Given the description of an element on the screen output the (x, y) to click on. 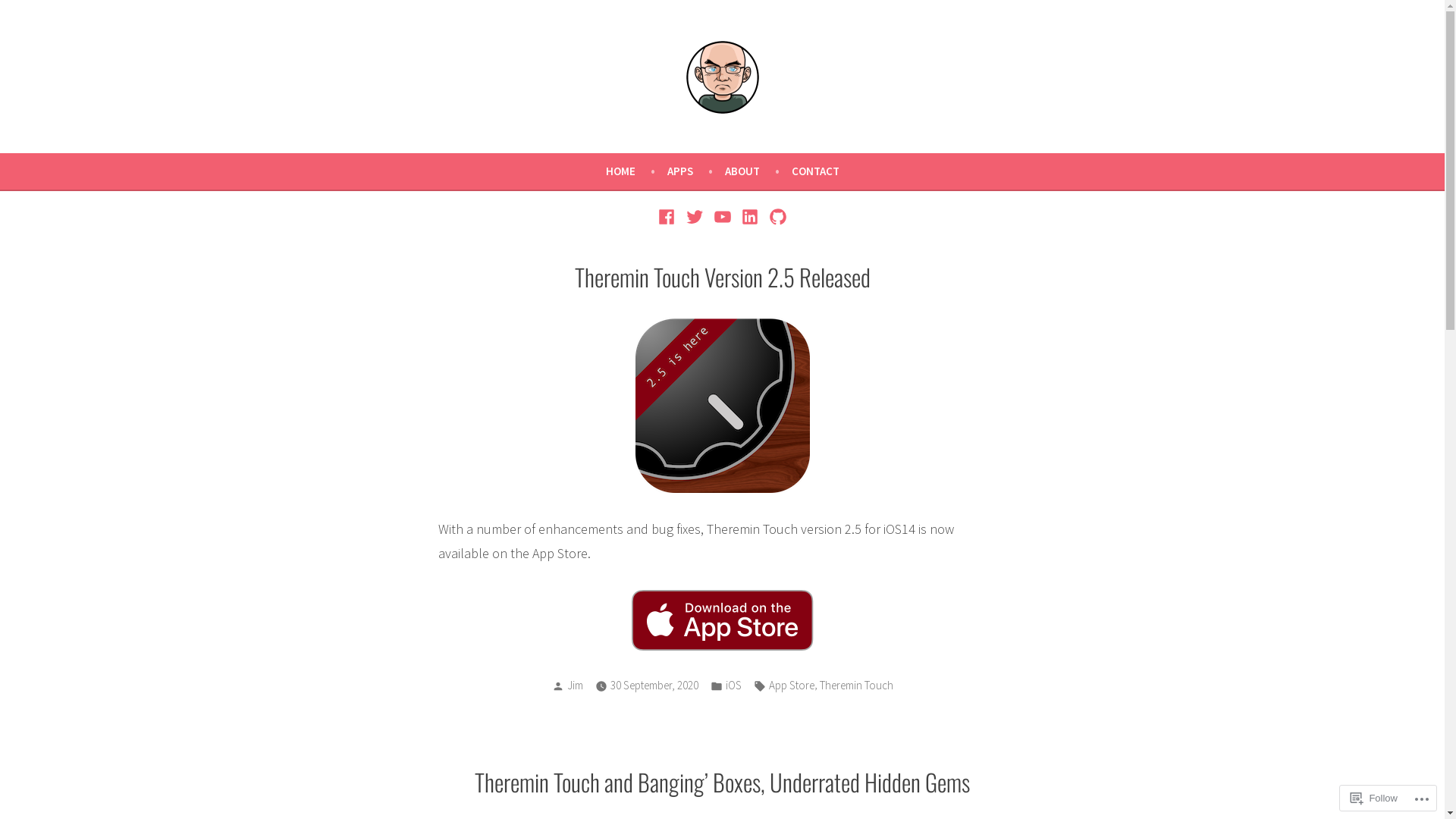
APPS Element type: text (695, 171)
Jim's Apps Element type: text (49, 131)
HOME Element type: text (635, 171)
CONTACT Element type: text (815, 171)
Theremin Touch Version 2.5 Released Element type: text (722, 276)
Jim Element type: text (575, 684)
30 September, 2020 Element type: text (653, 685)
App Store Element type: text (791, 685)
Follow Element type: text (1373, 797)
ABOUT Element type: text (757, 171)
iOS Element type: text (732, 685)
Theremin Touch Element type: text (855, 685)
